Given the description of an element on the screen output the (x, y) to click on. 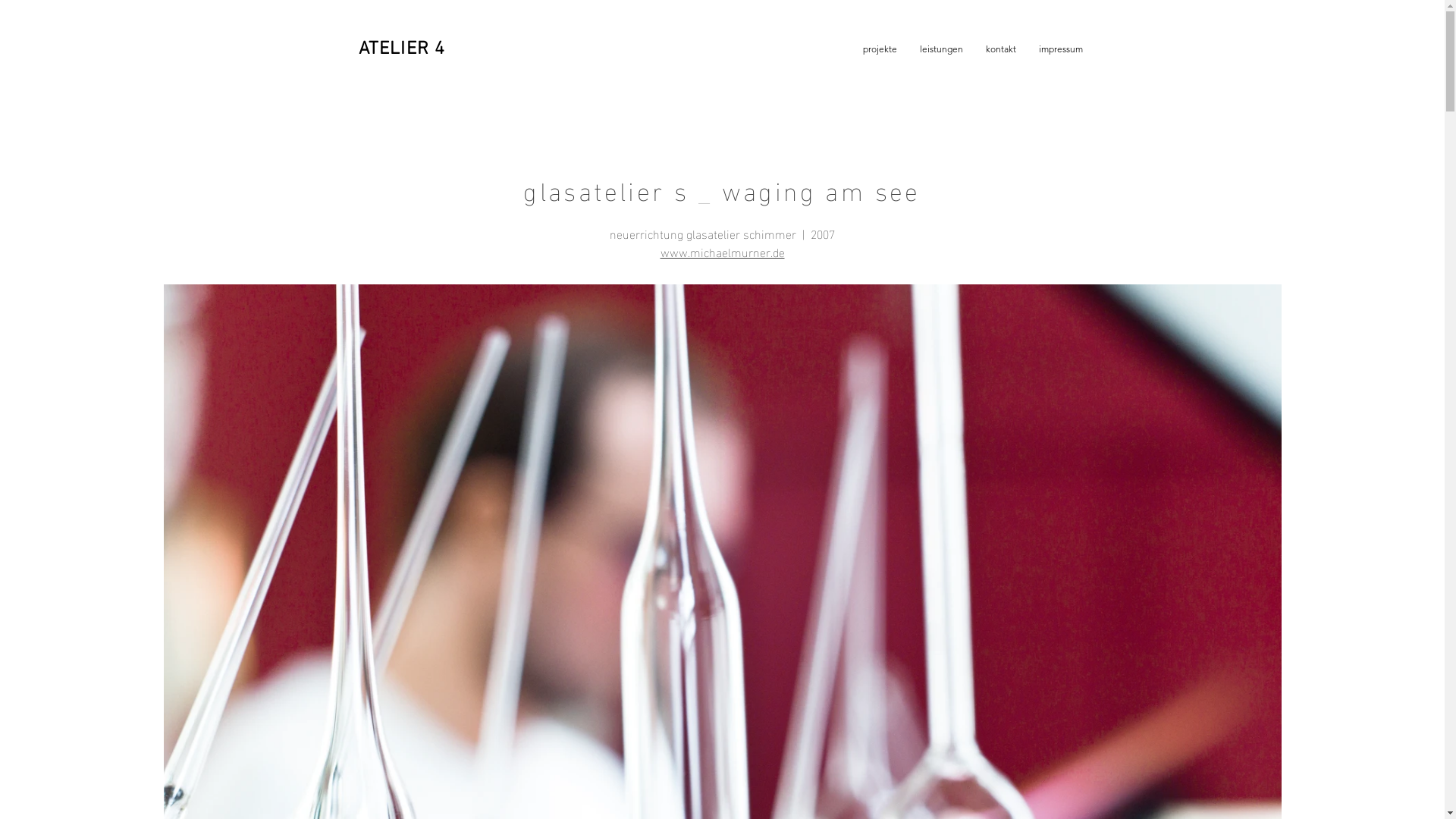
impressum Element type: text (1059, 49)
www.michaelmurner.de Element type: text (721, 251)
kontakt Element type: text (999, 49)
ATELIER 4 Element type: text (401, 48)
leistungen Element type: text (941, 49)
